Given the description of an element on the screen output the (x, y) to click on. 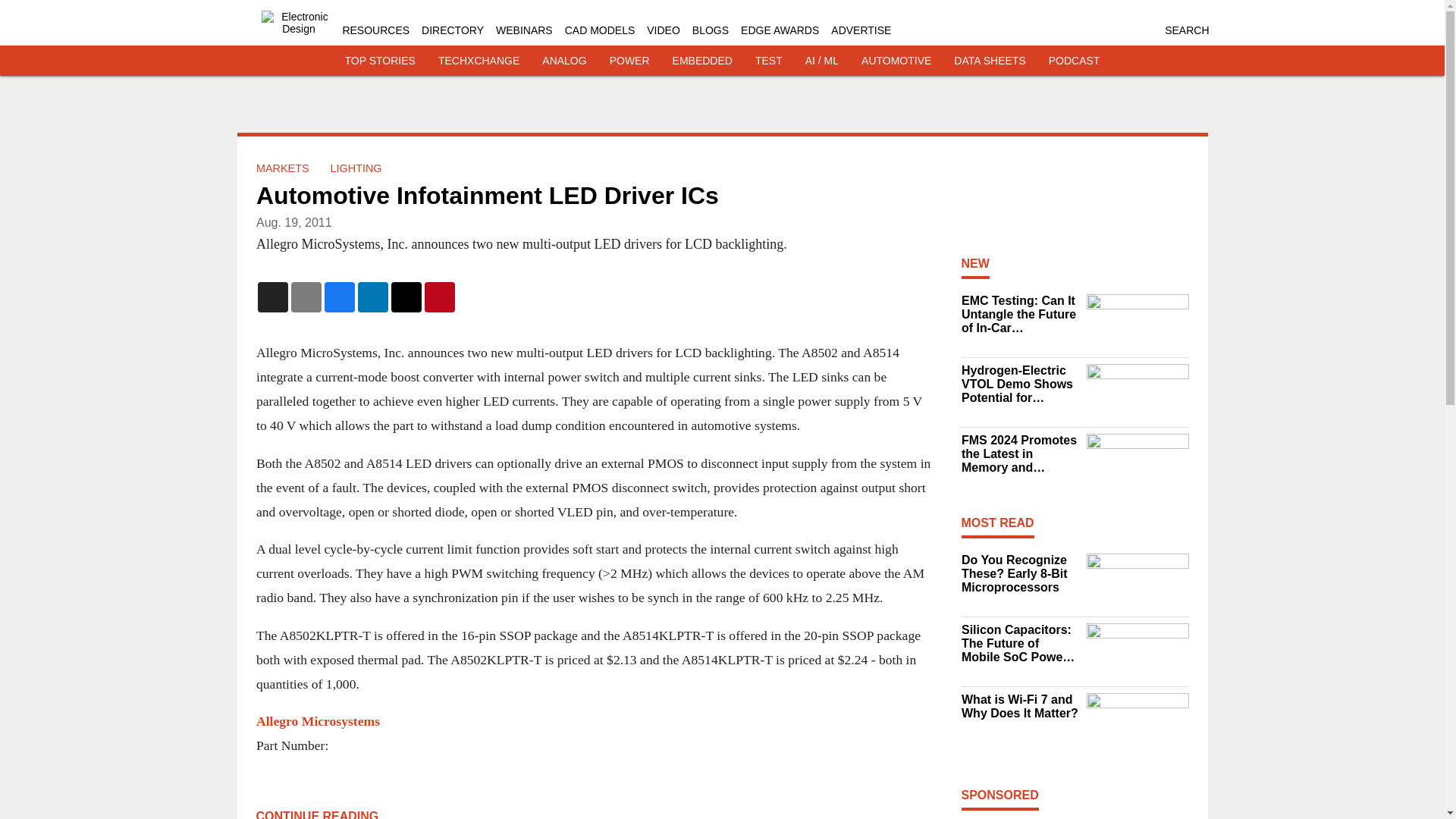
EDGE AWARDS (779, 30)
LIGHTING (355, 168)
BLOGS (711, 30)
AUTOMOTIVE (896, 60)
EMBEDDED (702, 60)
RESOURCES (375, 30)
DATA SHEETS (989, 60)
TOP STORIES (379, 60)
TEST (769, 60)
PODCAST (1074, 60)
